Given the description of an element on the screen output the (x, y) to click on. 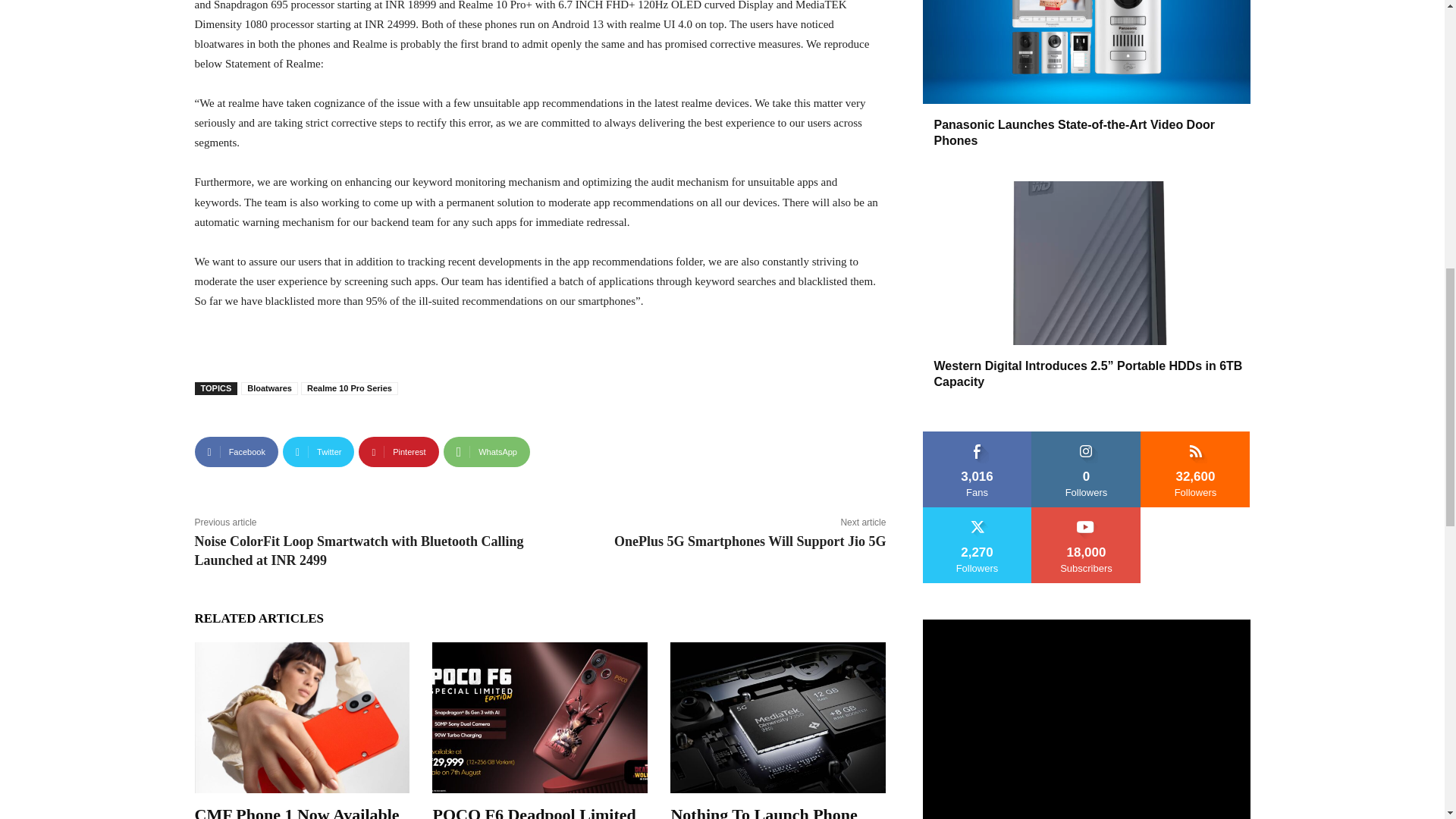
Pinterest (398, 451)
Facebook (235, 451)
WhatsApp (486, 451)
Twitter (318, 451)
Realme 10 Pro Series (349, 388)
WhatsApp (486, 451)
Twitter (318, 451)
Facebook (235, 451)
Pinterest (398, 451)
Bloatwares (269, 388)
